Given the description of an element on the screen output the (x, y) to click on. 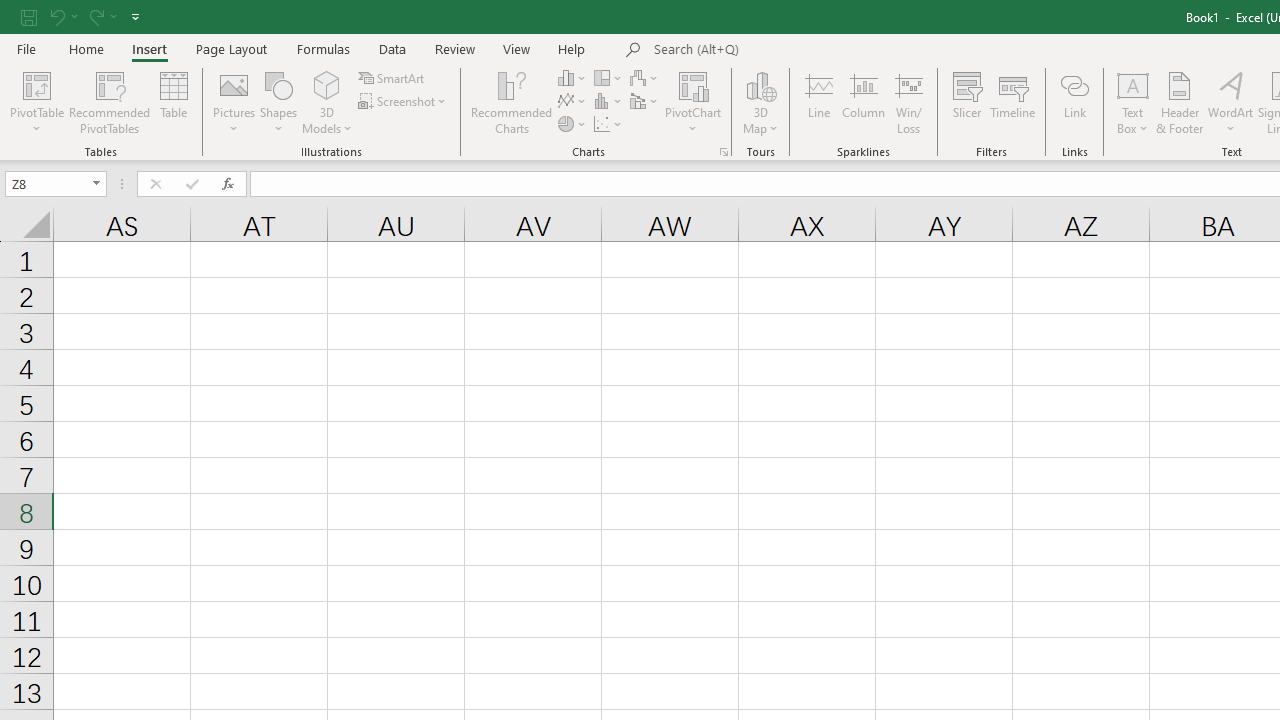
SmartArt... (392, 78)
Recommended PivotTables (109, 102)
Column (863, 102)
PivotChart (693, 84)
Win/Loss (909, 102)
3D Models (326, 102)
PivotTable (36, 84)
Insert Column or Bar Chart (573, 78)
3D Map (760, 84)
Timeline (1013, 102)
